Given the description of an element on the screen output the (x, y) to click on. 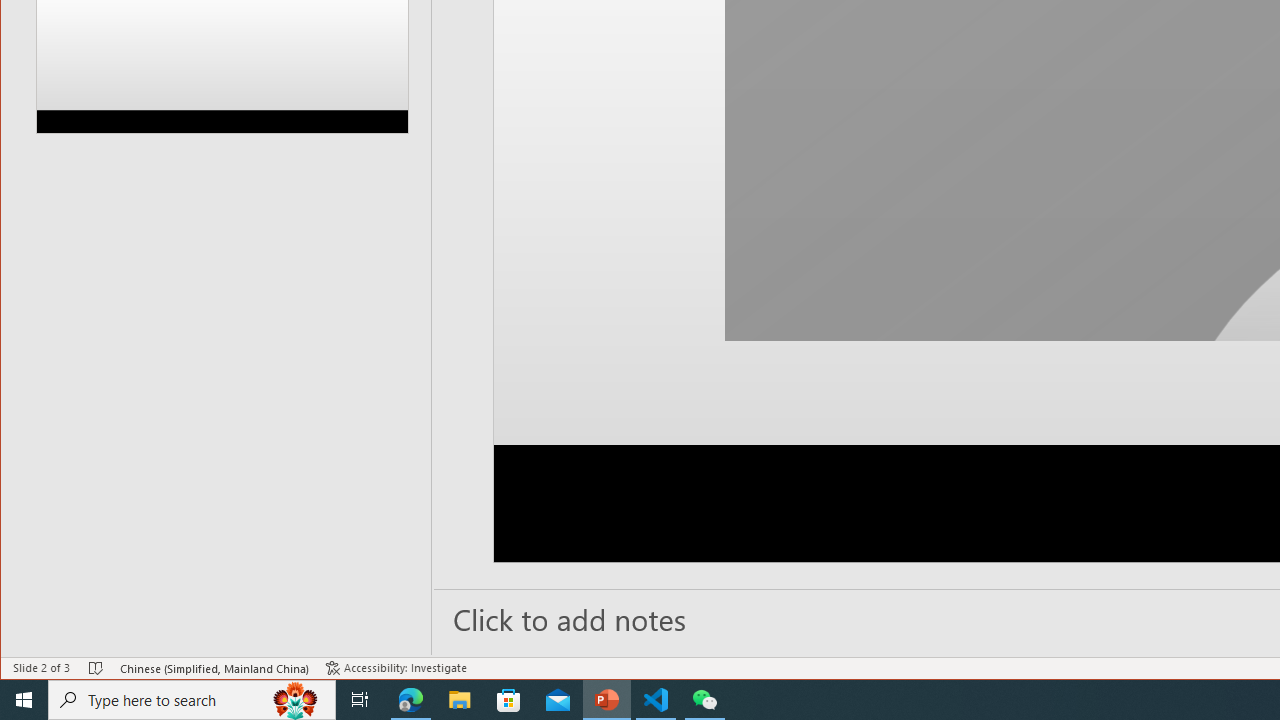
WeChat - 1 running window (704, 699)
Microsoft Edge - 1 running window (411, 699)
